Given the description of an element on the screen output the (x, y) to click on. 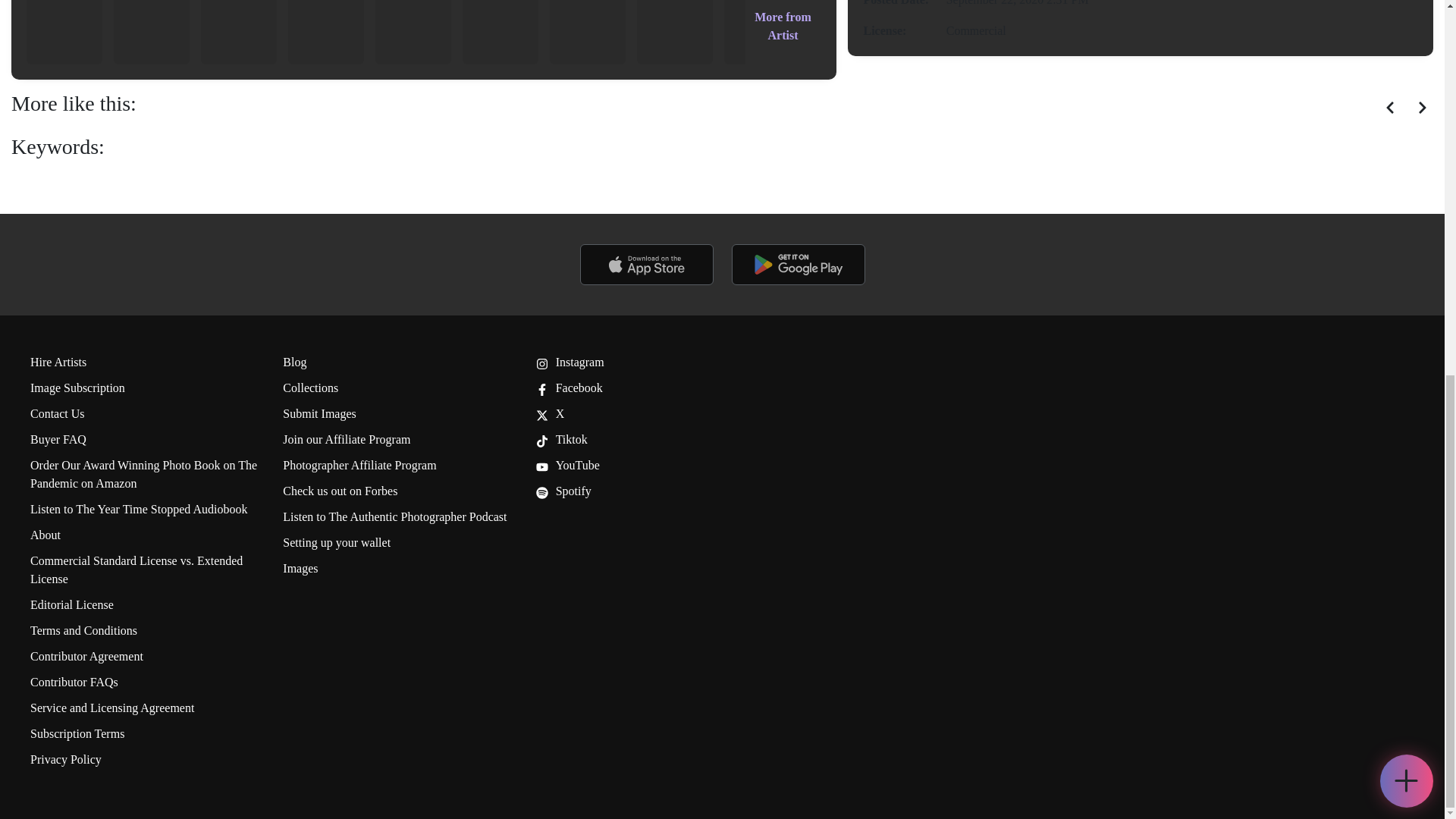
Scopio on Tiktok (561, 439)
Scopio on Instagram (569, 361)
Scopio on YouTube (567, 464)
Scopio on X (549, 413)
Scopio on Spotify (563, 490)
Scopio on Facebook (568, 387)
